Given the description of an element on the screen output the (x, y) to click on. 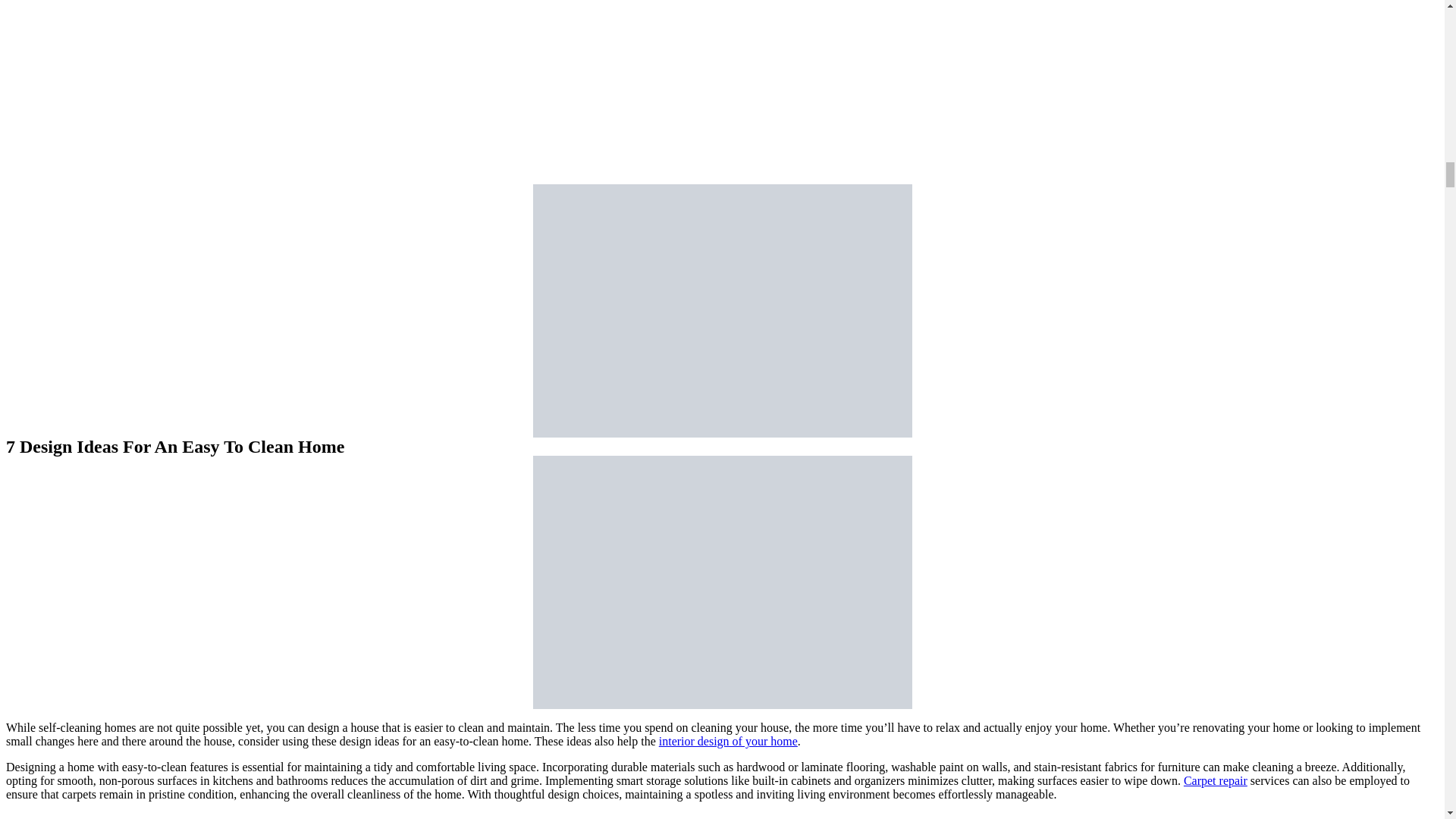
interior design of your home (728, 740)
Carpet repair (1215, 780)
